Given the description of an element on the screen output the (x, y) to click on. 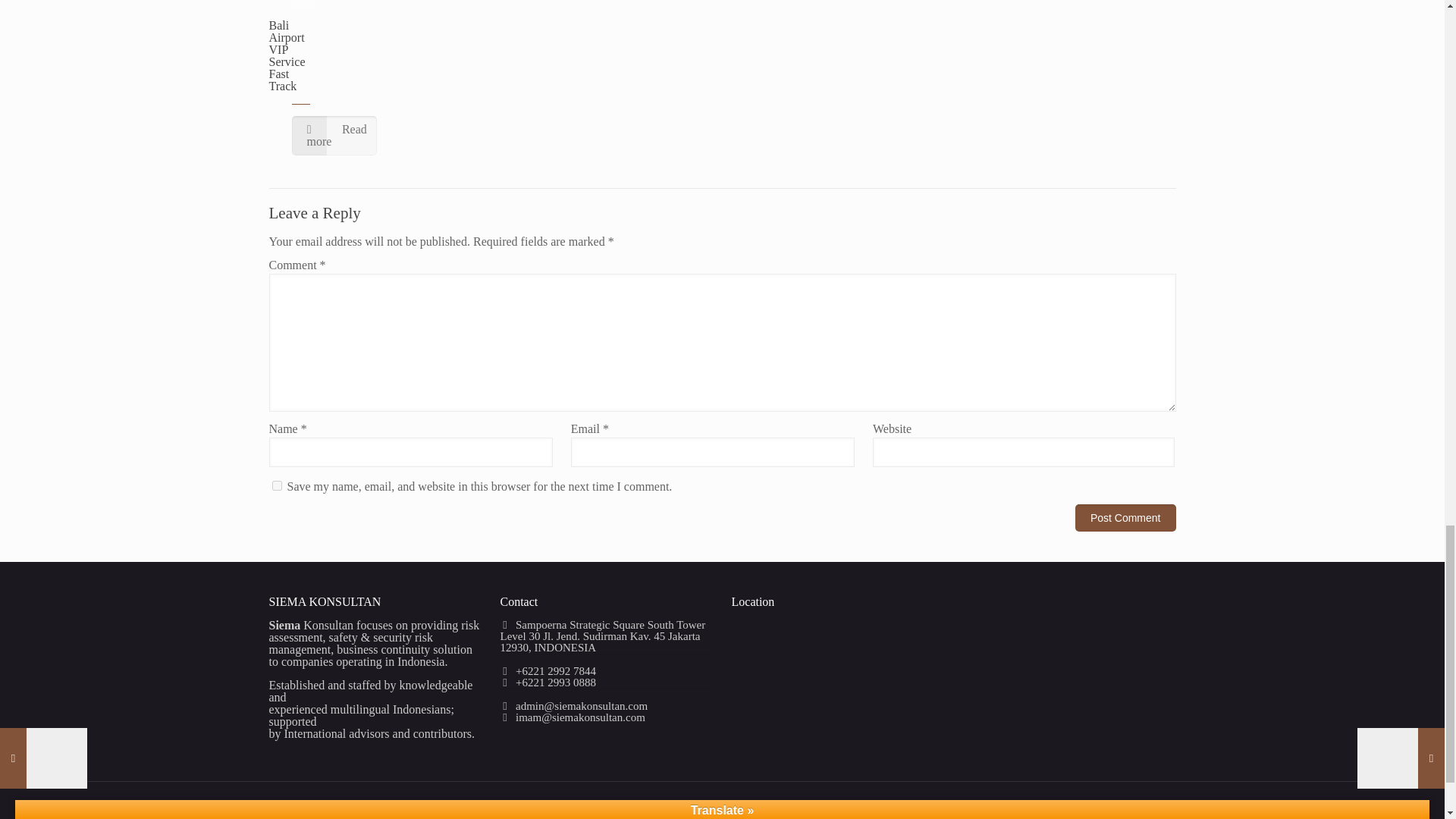
Read more (334, 135)
Post Comment (1125, 517)
Post Comment (1125, 517)
yes (275, 485)
